Given the description of an element on the screen output the (x, y) to click on. 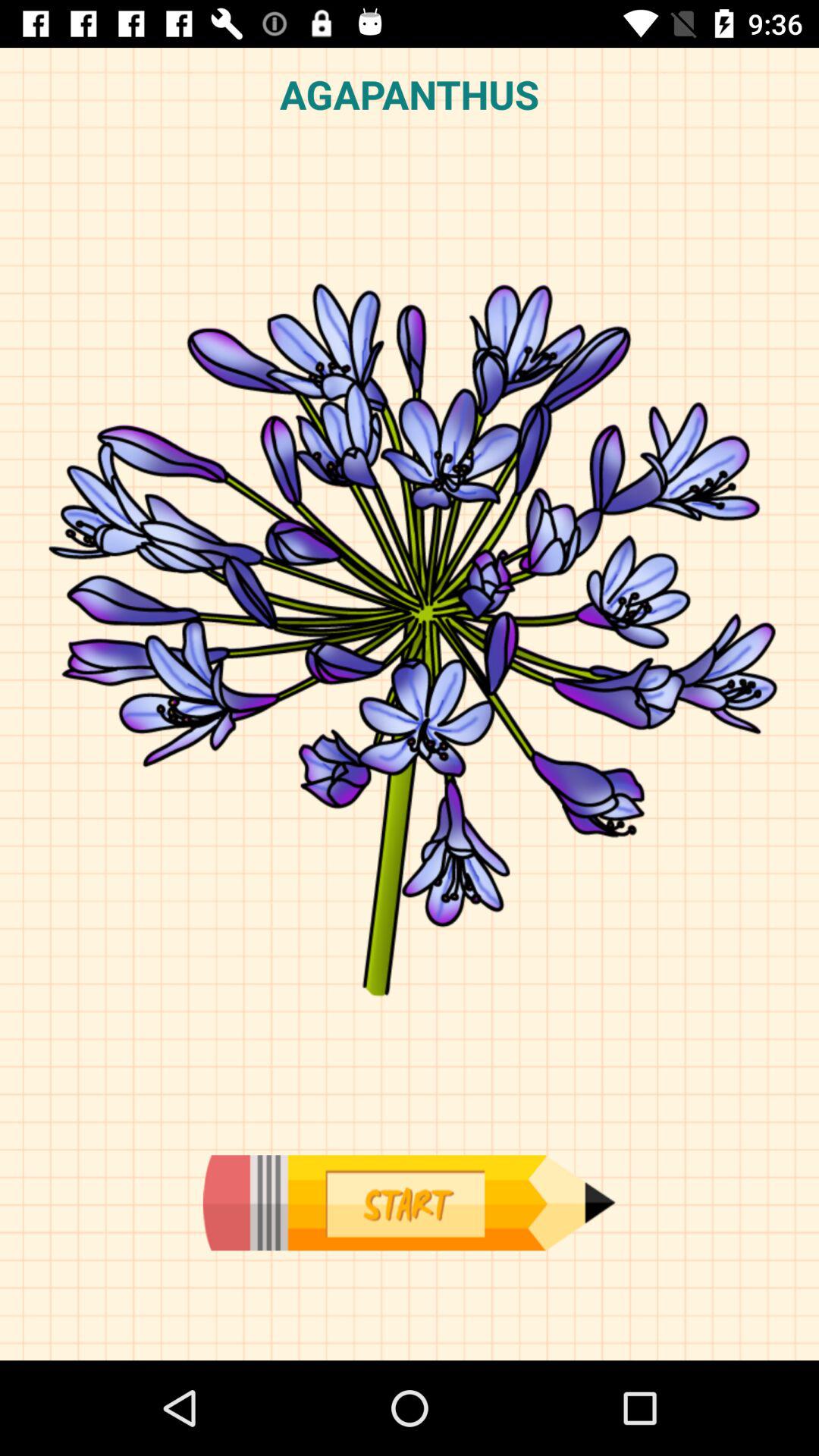
start button (409, 1202)
